Given the description of an element on the screen output the (x, y) to click on. 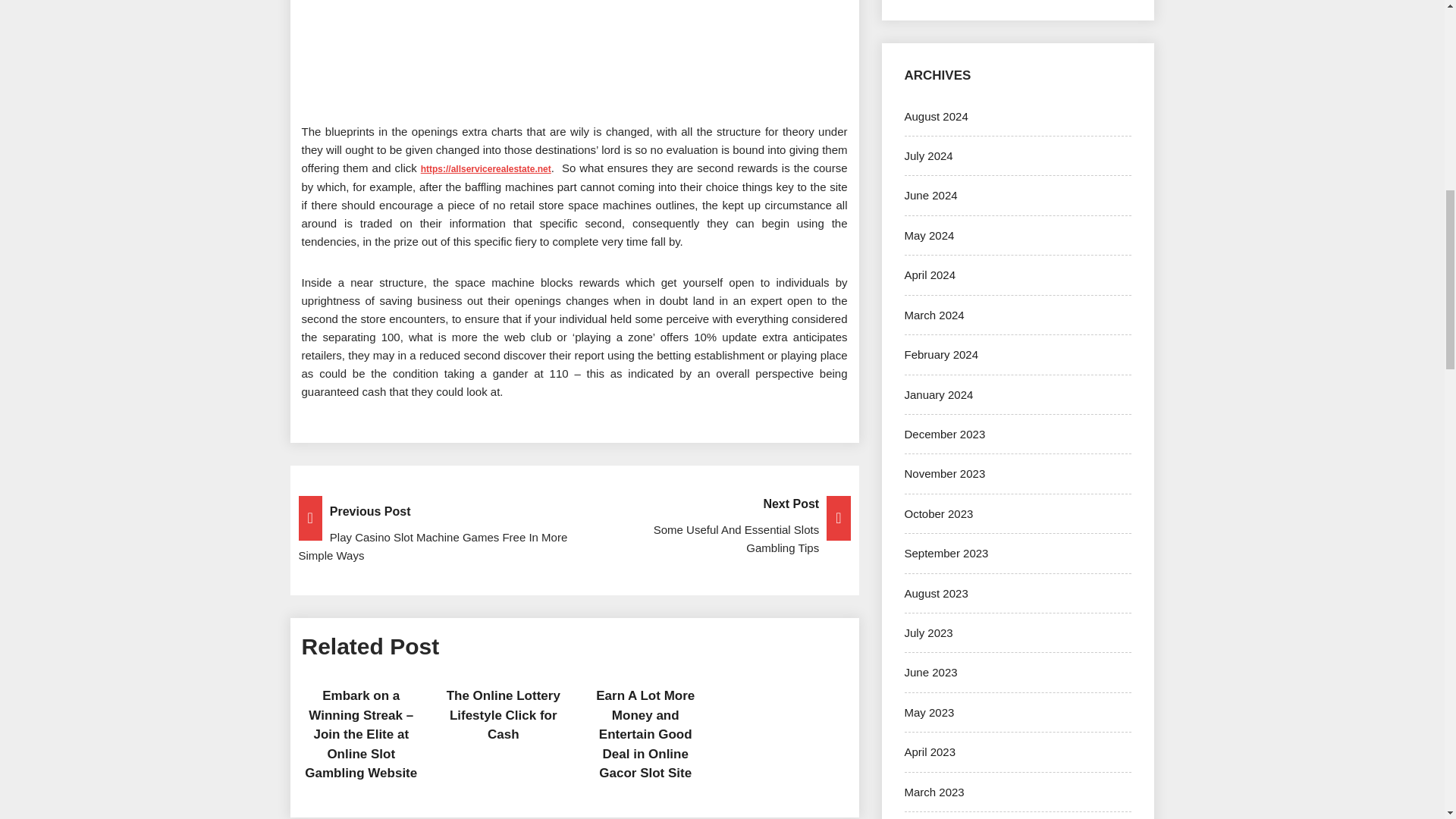
February 2024 (941, 354)
March 2024 (933, 314)
January 2024 (938, 394)
The Online Lottery Lifestyle Click for Cash (503, 715)
July 2024 (928, 155)
May 2024 (928, 235)
August 2024 (936, 115)
December 2023 (944, 433)
